Given the description of an element on the screen output the (x, y) to click on. 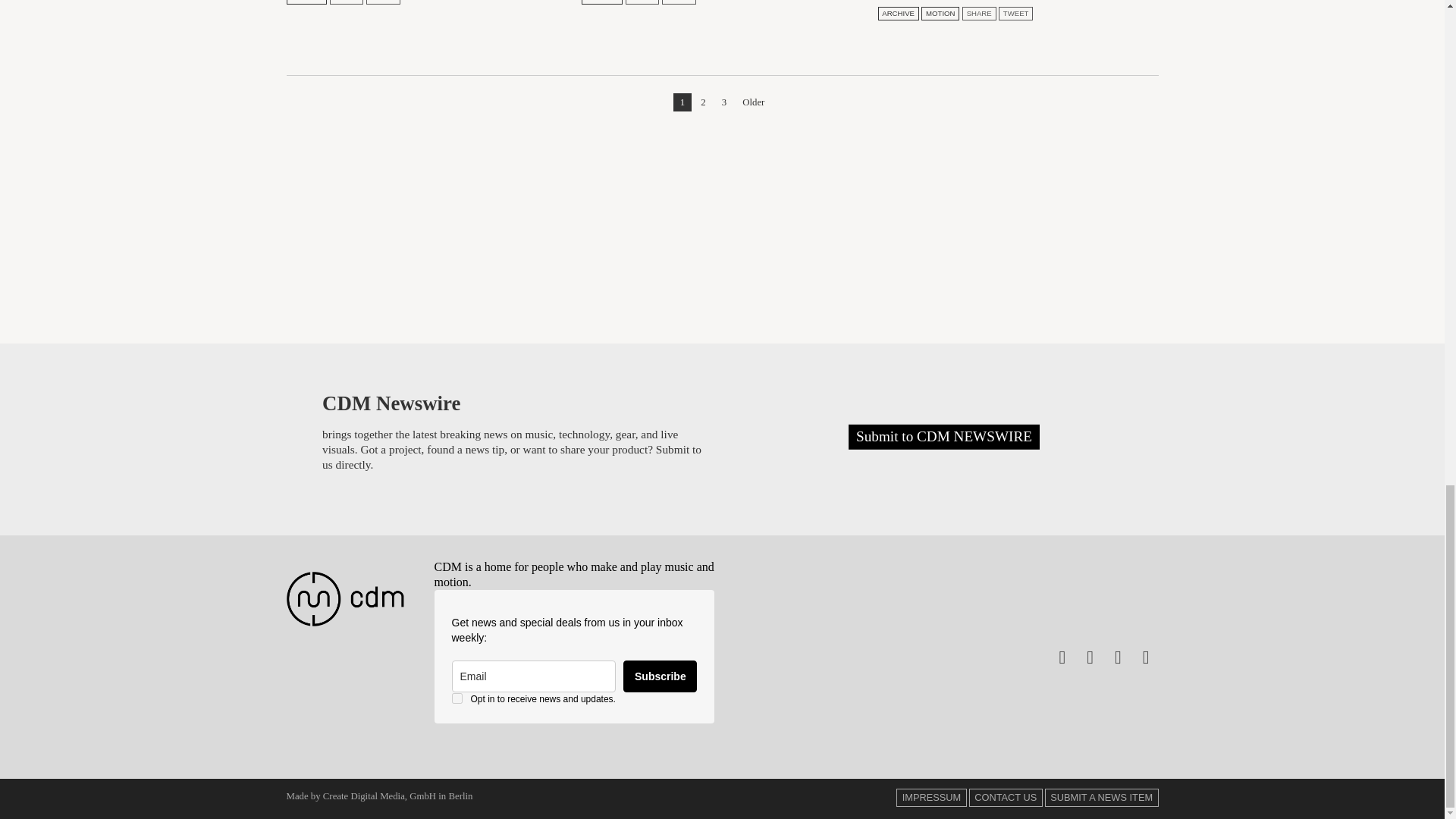
on (457, 697)
3rd party ad content (721, 224)
